Given the description of an element on the screen output the (x, y) to click on. 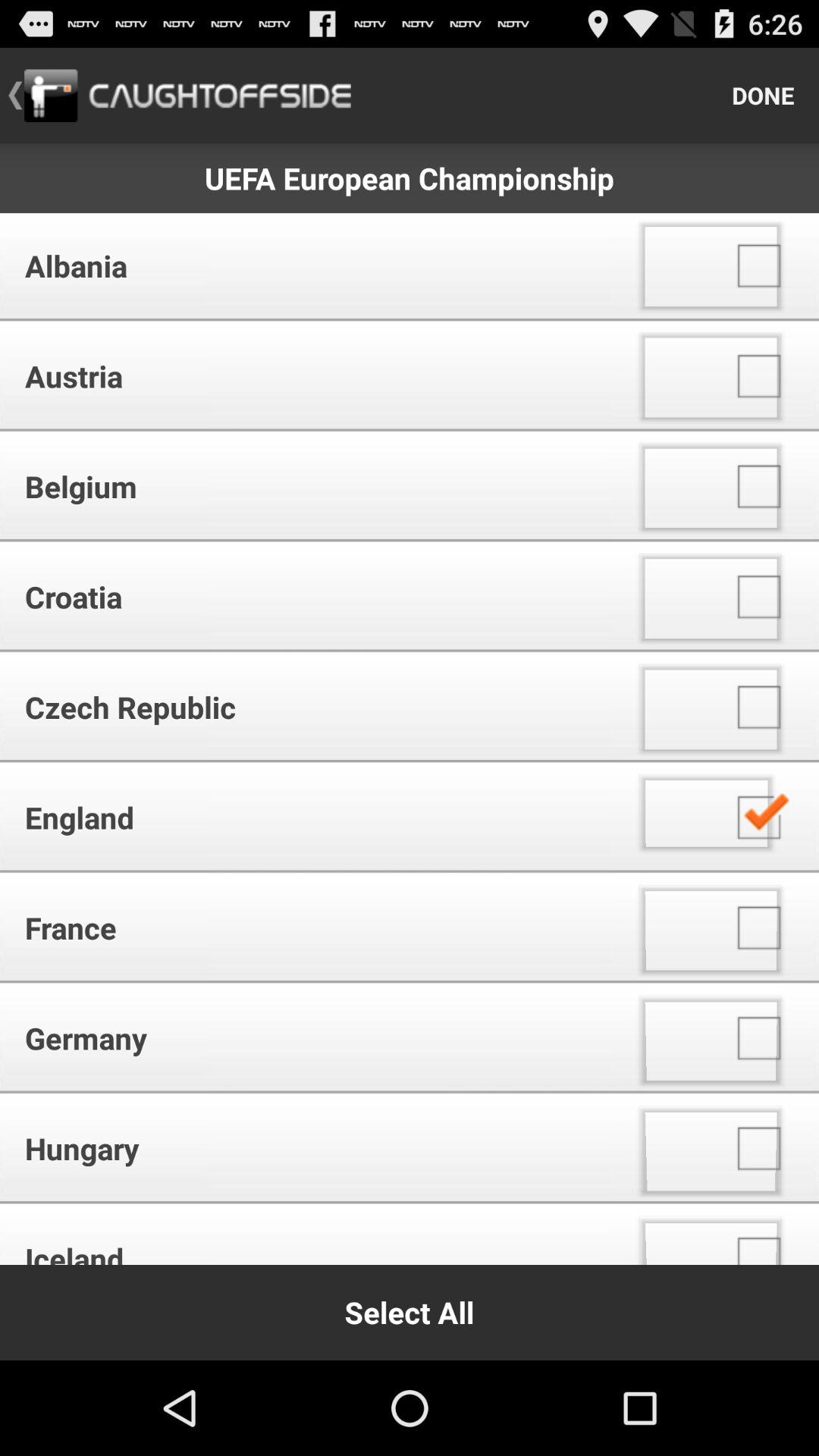
tap the app below czech republic icon (311, 817)
